Given the description of an element on the screen output the (x, y) to click on. 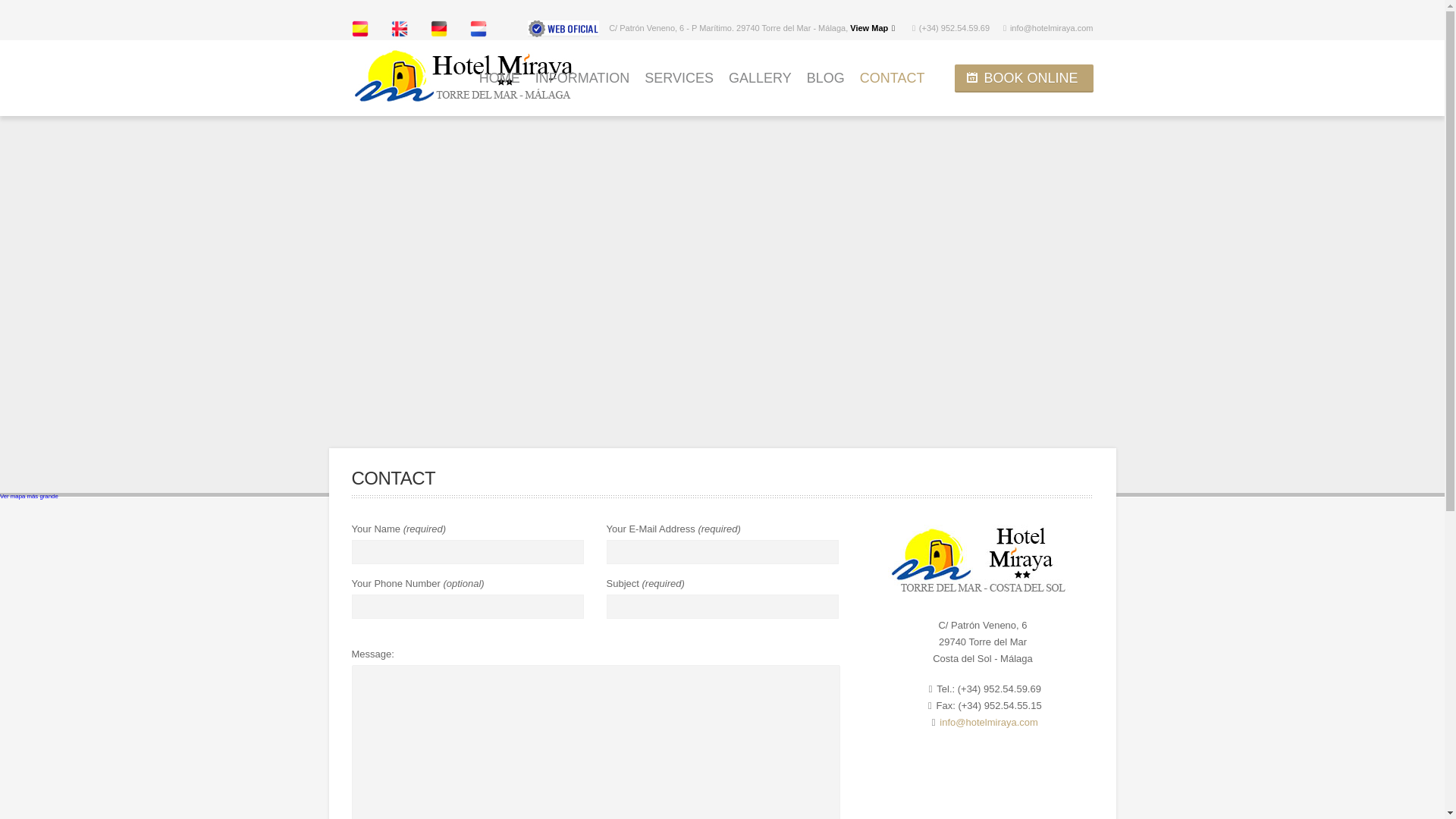
View Map (869, 27)
CONTACT (892, 78)
GALLERY (759, 78)
SERVICES (678, 78)
INFORMATION (582, 78)
BOOK ONLINE (1024, 78)
